Given the description of an element on the screen output the (x, y) to click on. 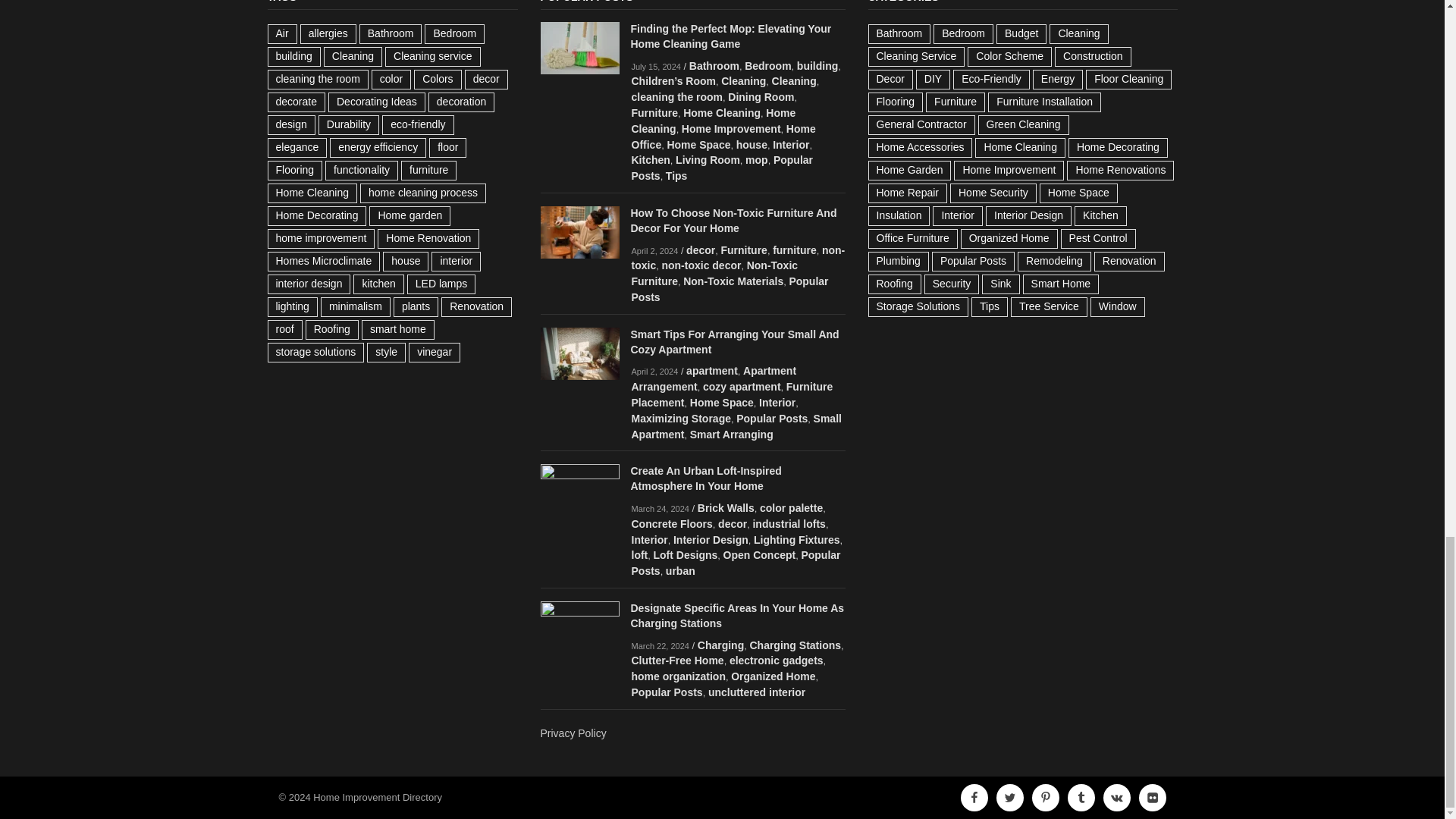
Bathroom (713, 38)
